Given the description of an element on the screen output the (x, y) to click on. 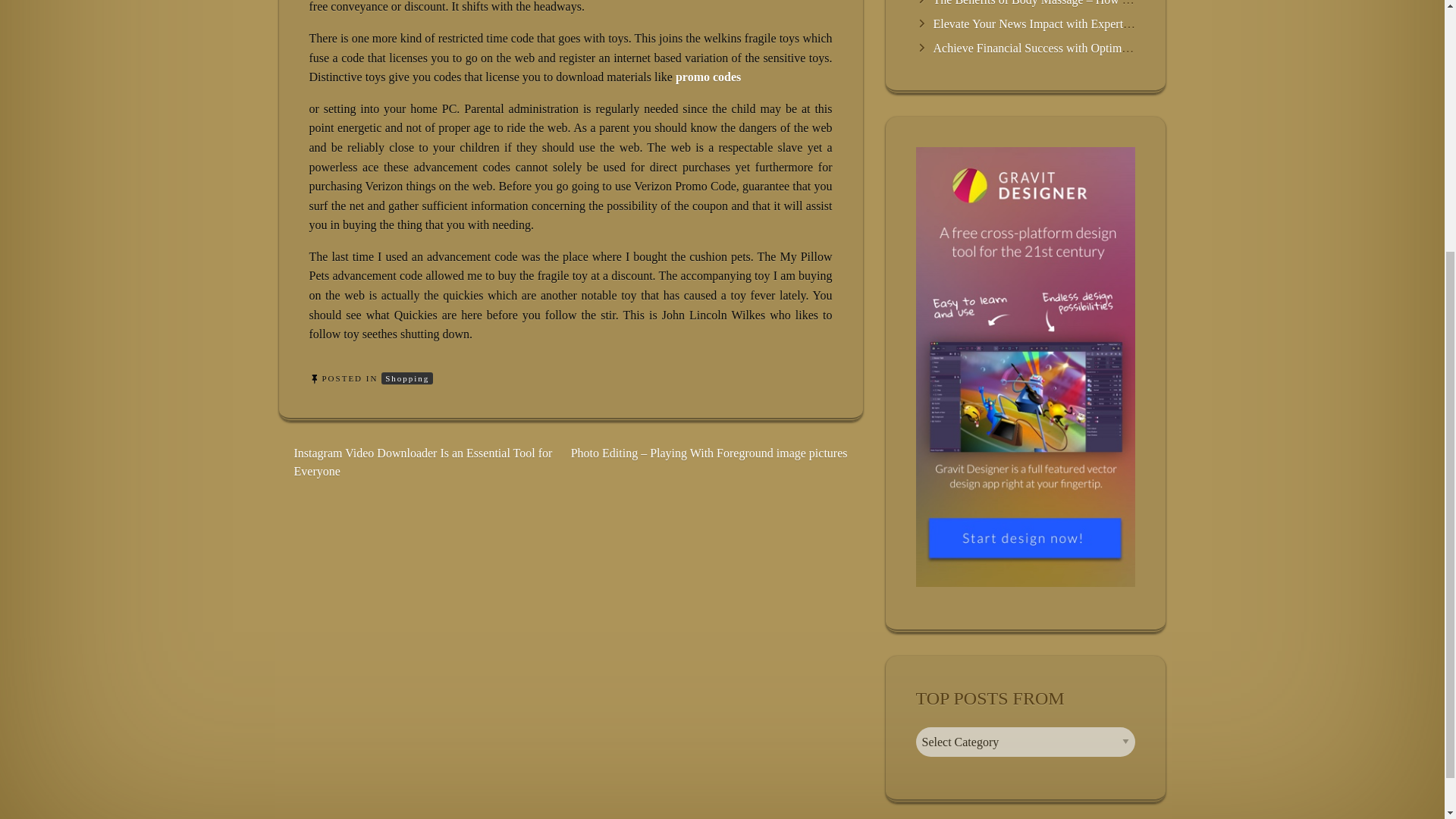
promo codes (708, 76)
Instagram Video Downloader Is an Essential Tool for Everyone (423, 461)
Shopping (406, 378)
